Given the description of an element on the screen output the (x, y) to click on. 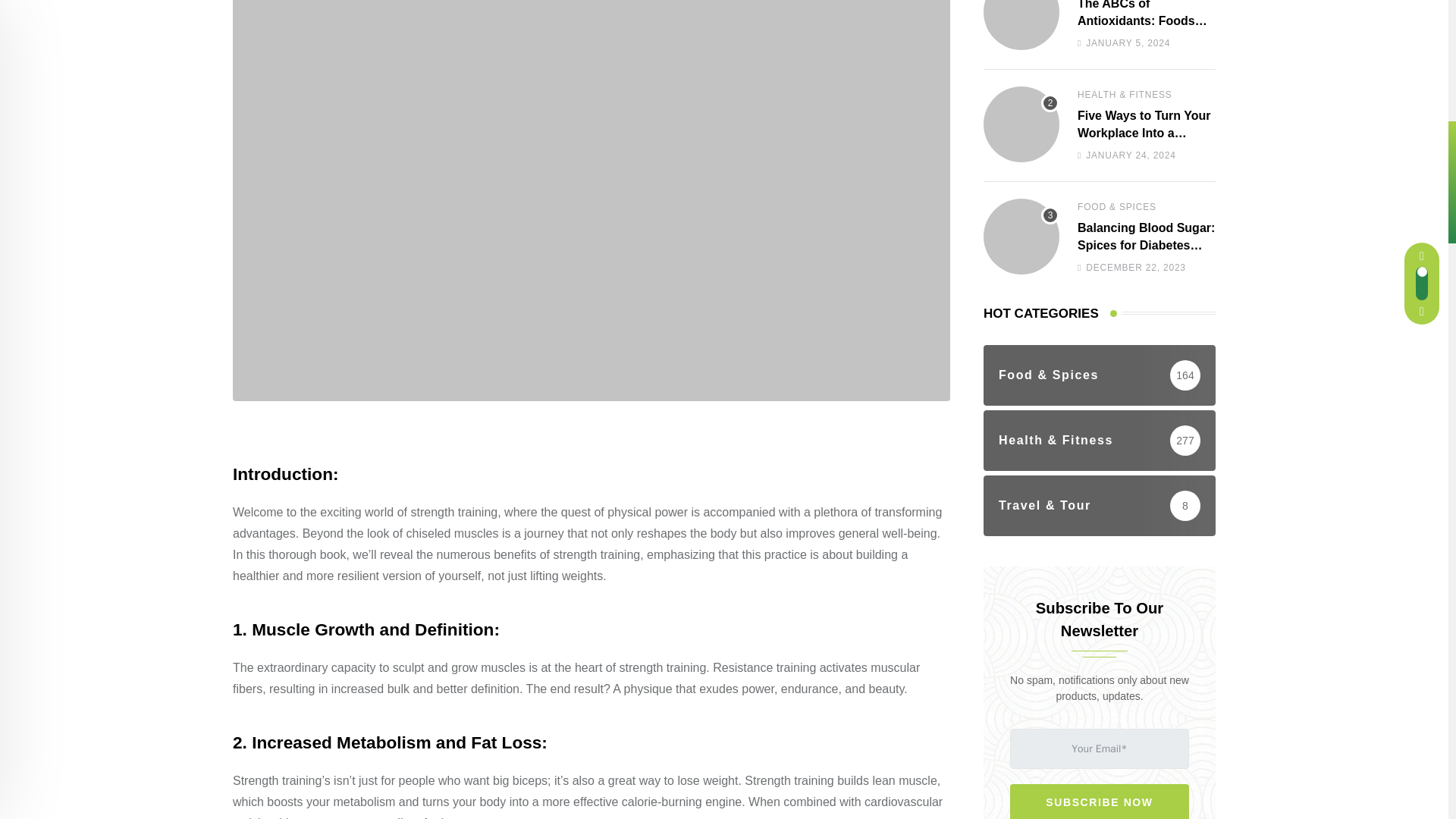
Five Ways to Turn Your Workplace Into a Wellness Haven (1021, 124)
The ABCs of Antioxidants: Foods That Fight Free Radicals (1021, 24)
Balancing Blood Sugar: Spices for Diabetes Management (1021, 236)
